Given the description of an element on the screen output the (x, y) to click on. 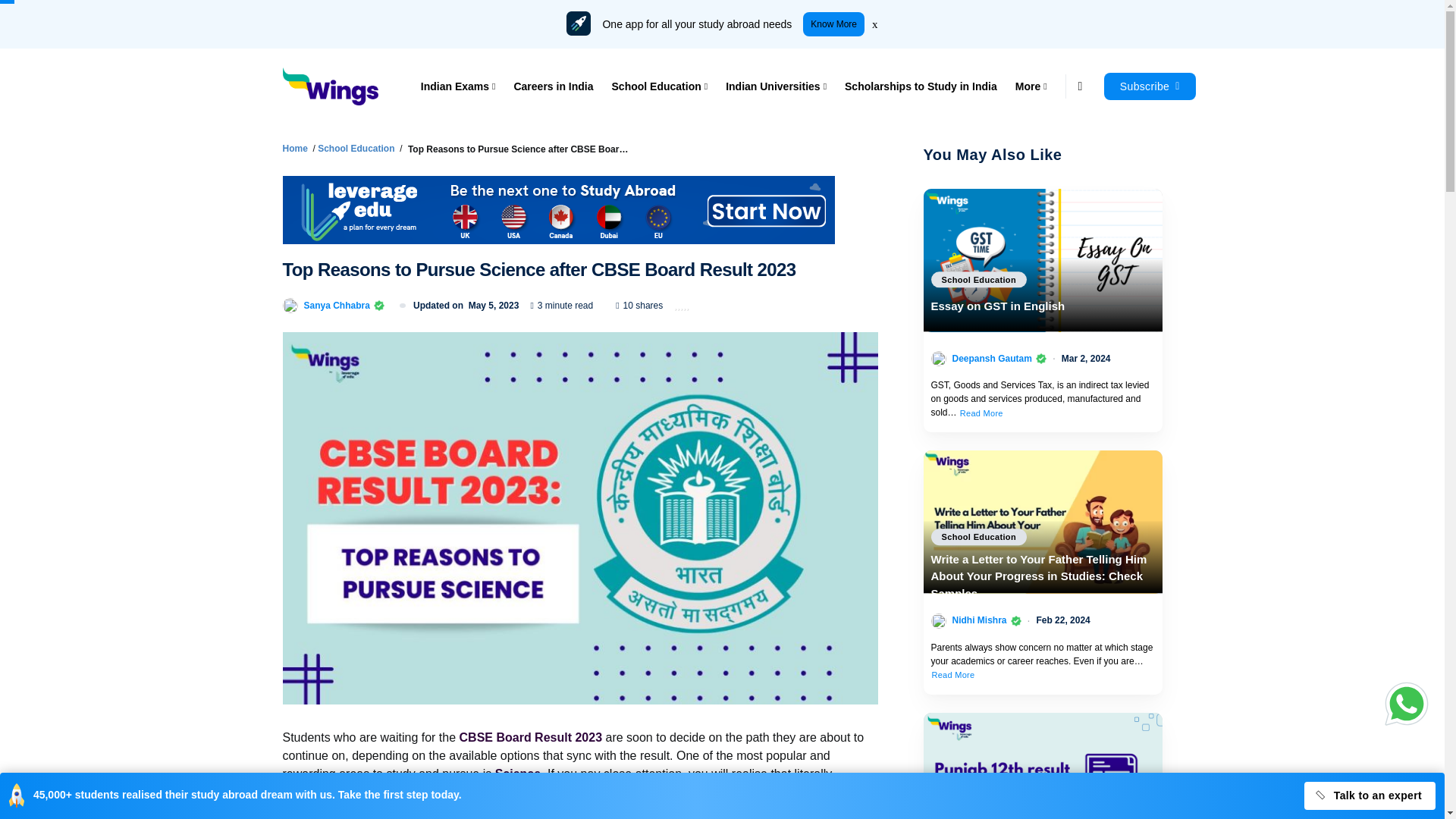
View all posts by Nidhi Mishra (979, 620)
View all posts by Deepansh Gautam (992, 358)
View all posts by Sanya Chhabra (335, 305)
